Given the description of an element on the screen output the (x, y) to click on. 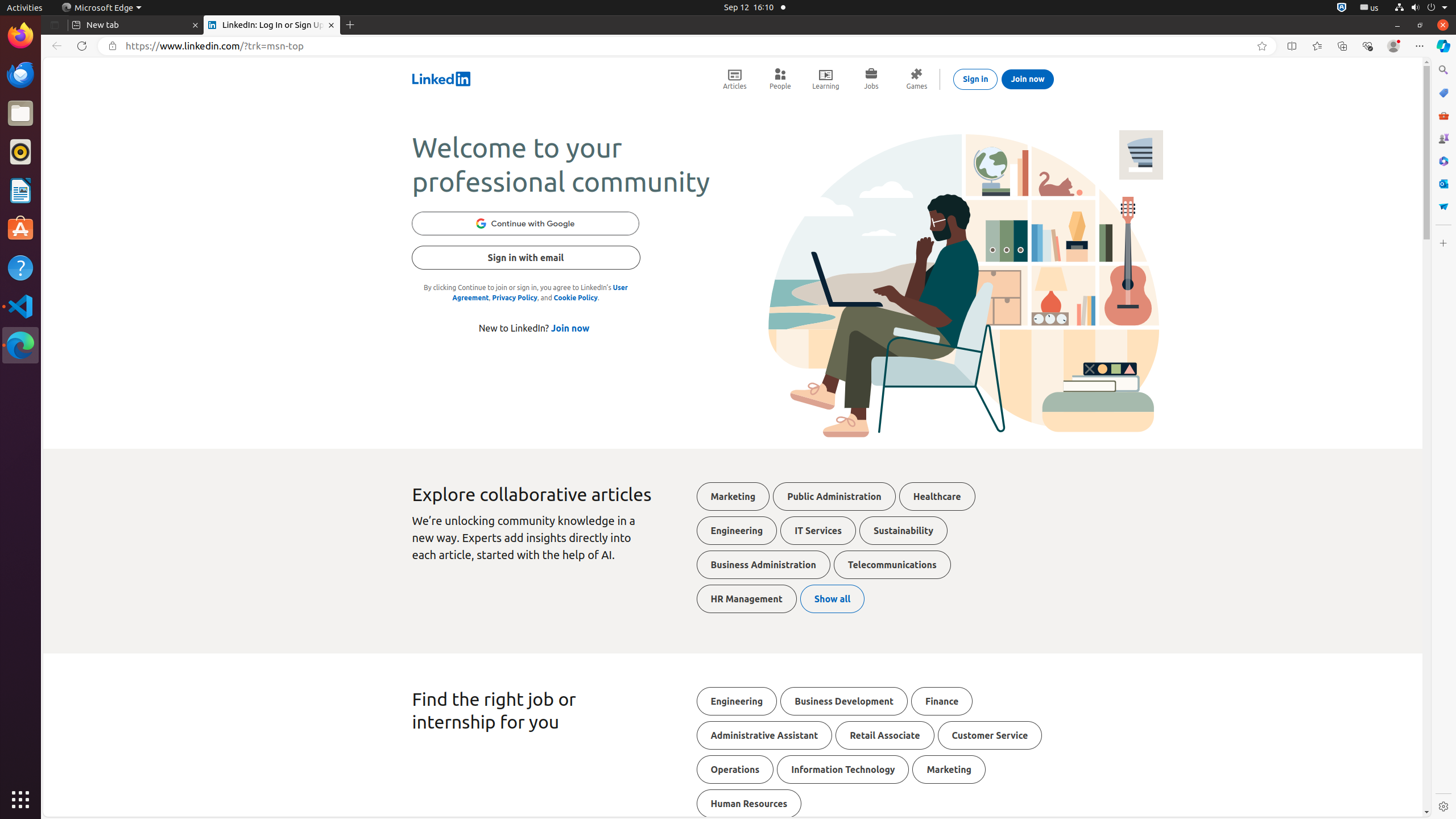
User Agreement Element type: link (539, 292)
Add this page to favorites (Ctrl+D) Element type: push-button (1261, 46)
Microsoft Shopping Element type: push-button (1443, 92)
Show all collaborative articles Element type: link (832, 598)
View site information Element type: push-button (112, 46)
